Given the description of an element on the screen output the (x, y) to click on. 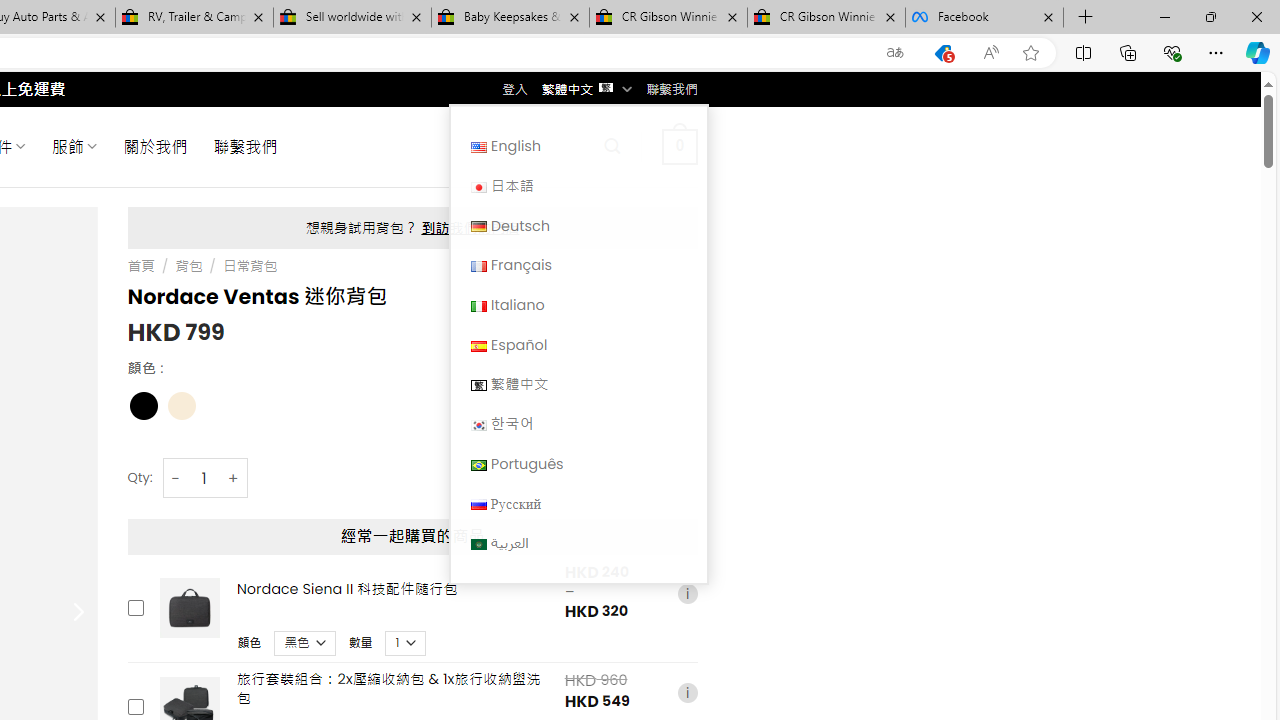
Class: upsell-v2-product-upsell-variable-product-qty-select (406, 642)
 0  (679, 146)
Sell worldwide with eBay (352, 17)
RV, Trailer & Camper Steps & Ladders for sale | eBay (194, 17)
Deutsch (478, 227)
 Deutsch (578, 225)
Deutsch Deutsch (578, 225)
